Given the description of an element on the screen output the (x, y) to click on. 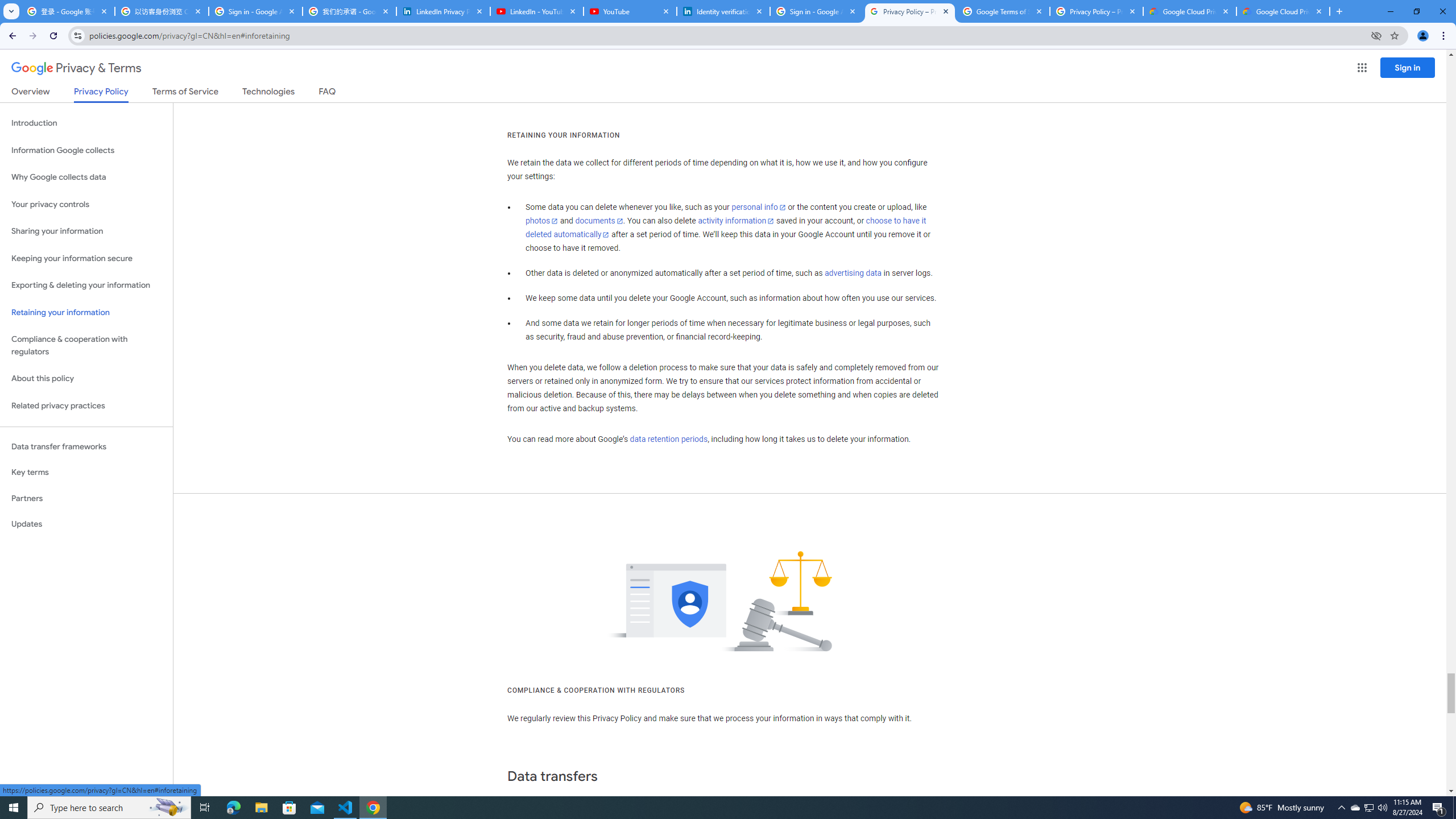
documents (599, 221)
Retaining your information (86, 312)
YouTube (629, 11)
Your privacy controls (86, 204)
About this policy (86, 379)
Introduction (86, 122)
choose to have it deleted automatically (725, 227)
Google Cloud Privacy Notice (1283, 11)
